Given the description of an element on the screen output the (x, y) to click on. 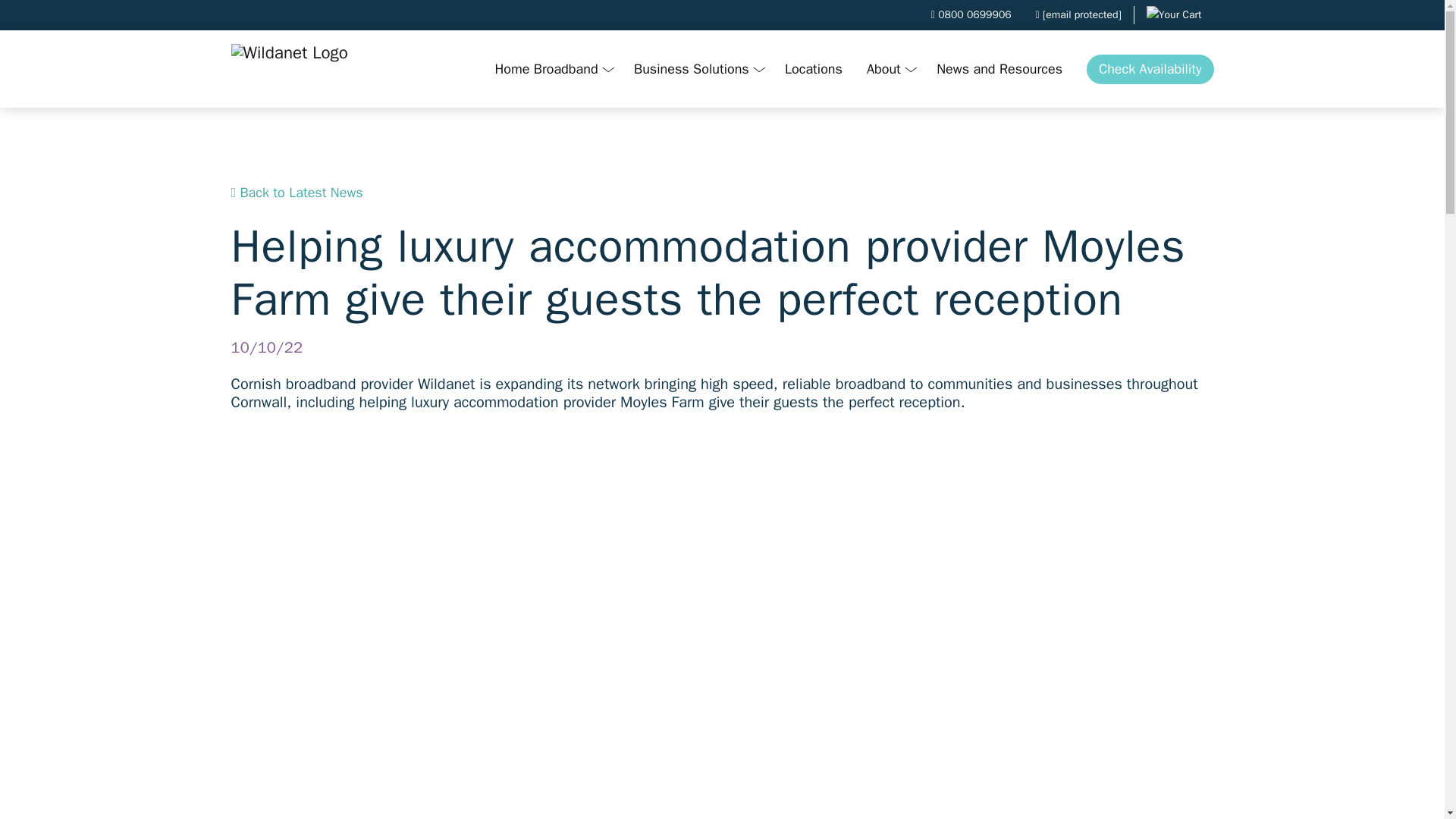
Home Broadband (551, 69)
Check Availability (1150, 69)
Locations (813, 69)
Business Solutions (697, 69)
News and Resources (999, 69)
0800 0699906 (970, 14)
About (889, 69)
